Given the description of an element on the screen output the (x, y) to click on. 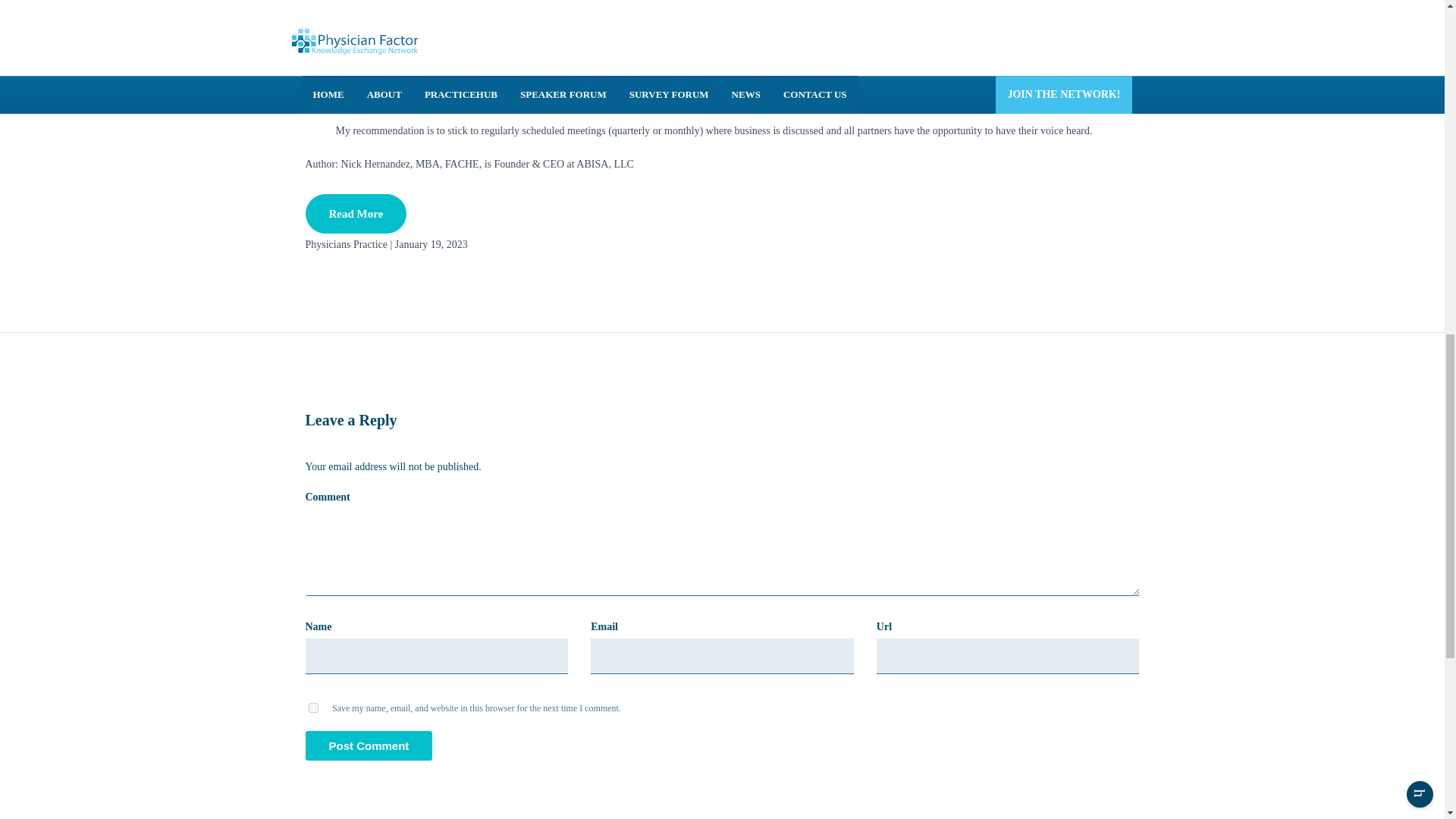
Post Comment (368, 745)
Post Comment (368, 745)
yes (312, 707)
Read More (355, 213)
